Given the description of an element on the screen output the (x, y) to click on. 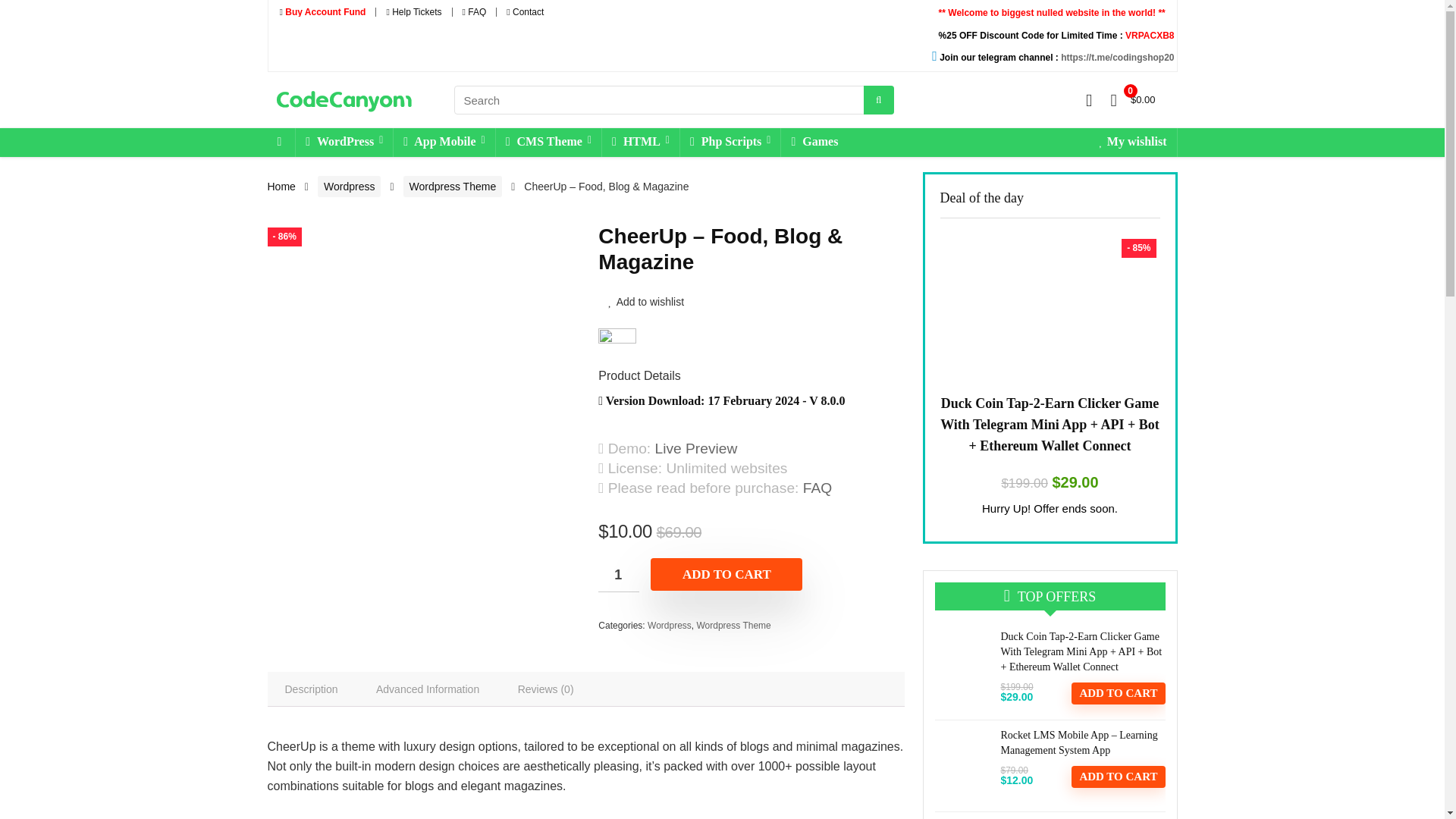
Wordpress Theme (452, 186)
Php Scripts (729, 142)
WordPress (344, 142)
Qty (618, 574)
ADD TO CART (726, 573)
Help Tickets (413, 11)
Contact (524, 11)
FAQ (474, 11)
Games (813, 142)
App Mobile (444, 142)
